Given the description of an element on the screen output the (x, y) to click on. 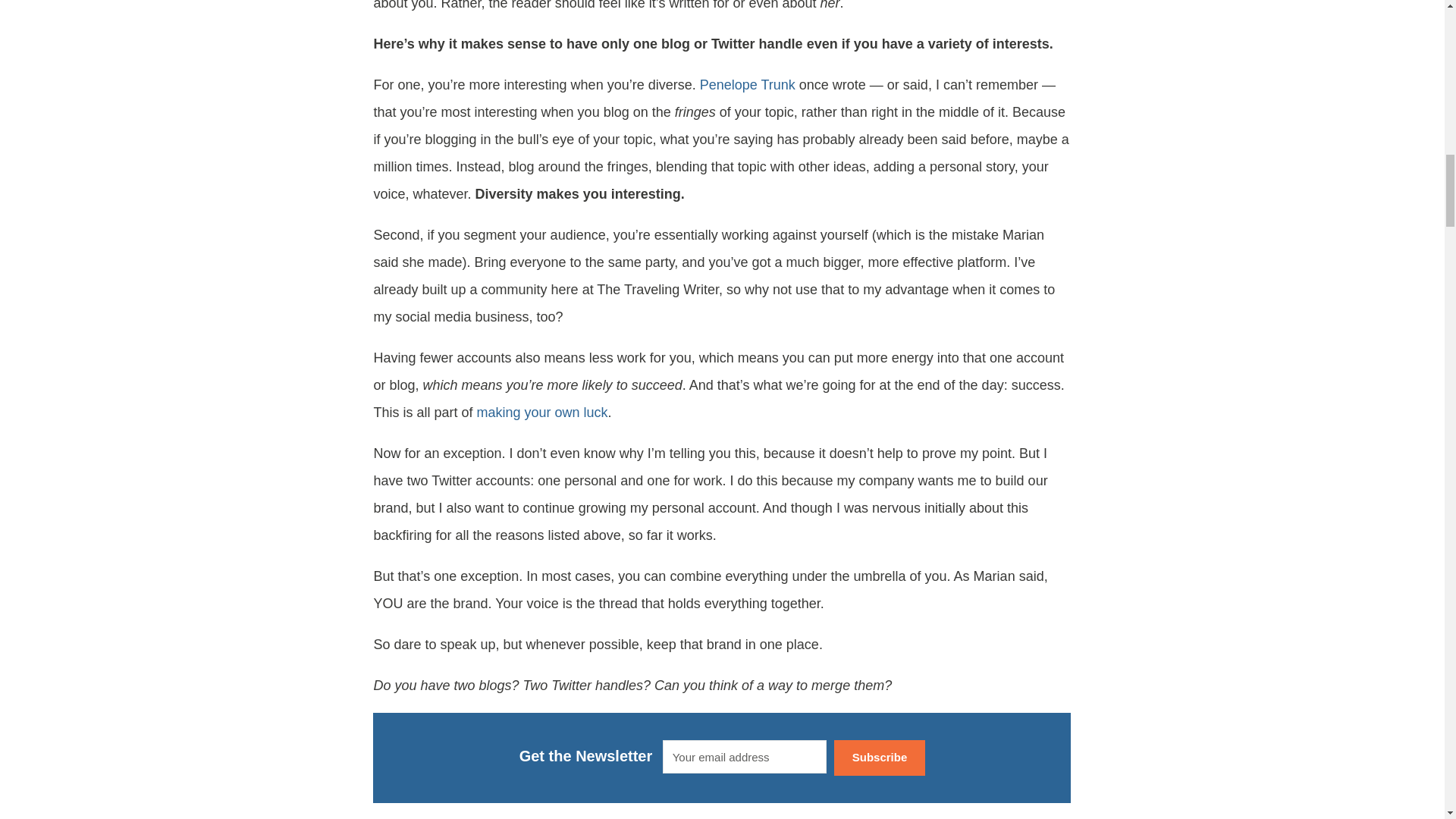
Penelope Trunk (747, 84)
making your own luck (542, 412)
Subscribe (880, 757)
